Given the description of an element on the screen output the (x, y) to click on. 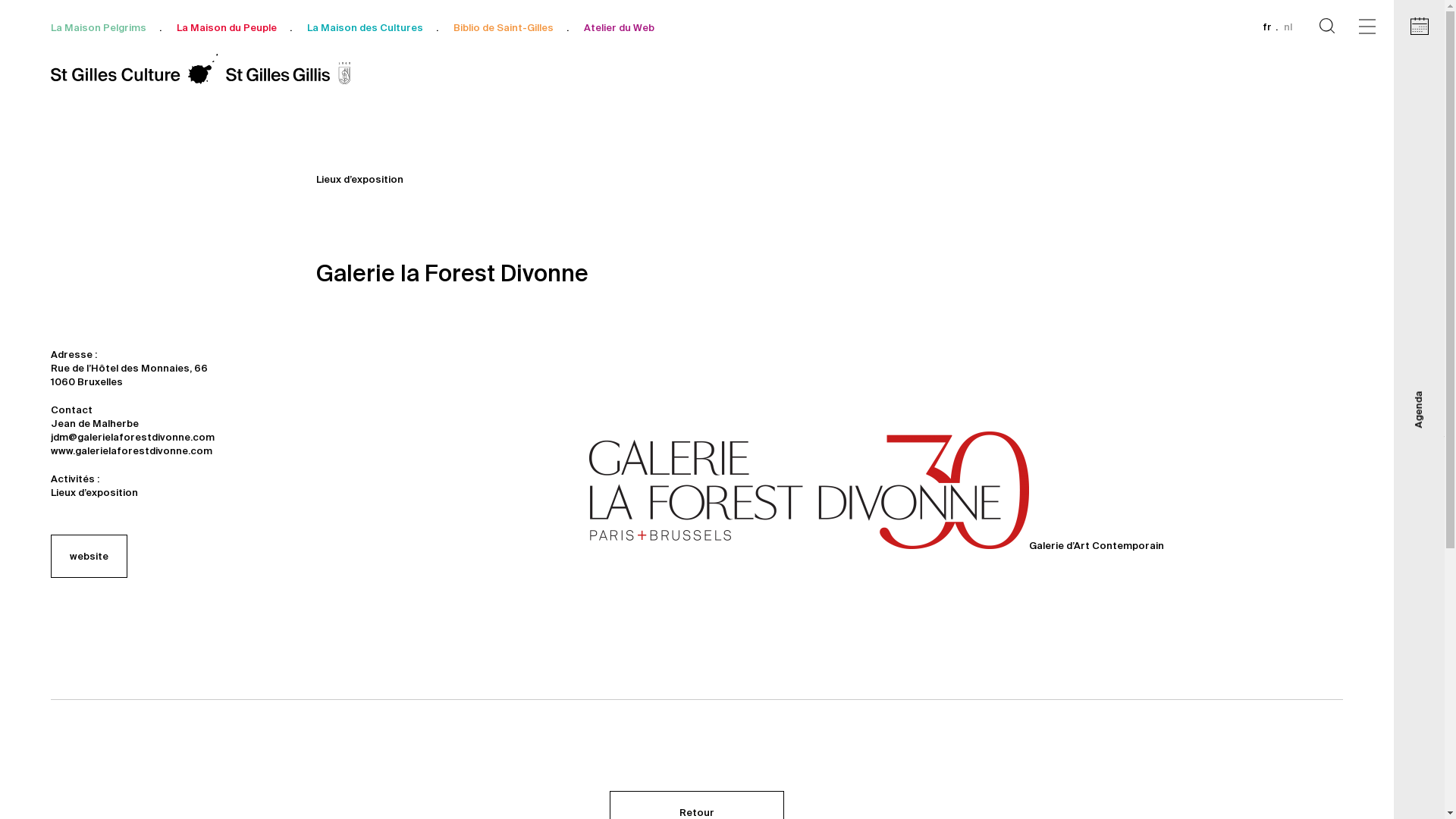
jdm@galerielaforestdivonne.com Element type: text (132, 436)
www.galerielaforestdivonne.com Element type: text (131, 450)
fr Element type: text (1266, 26)
La Maison du Peuple Element type: text (226, 27)
website Element type: text (88, 555)
Atelier du Web Element type: text (618, 27)
nl Element type: text (1287, 26)
La Maison des Cultures Element type: text (365, 27)
Biblio de Saint-Gilles Element type: text (503, 27)
La Maison Pelgrims Element type: text (98, 27)
